Given the description of an element on the screen output the (x, y) to click on. 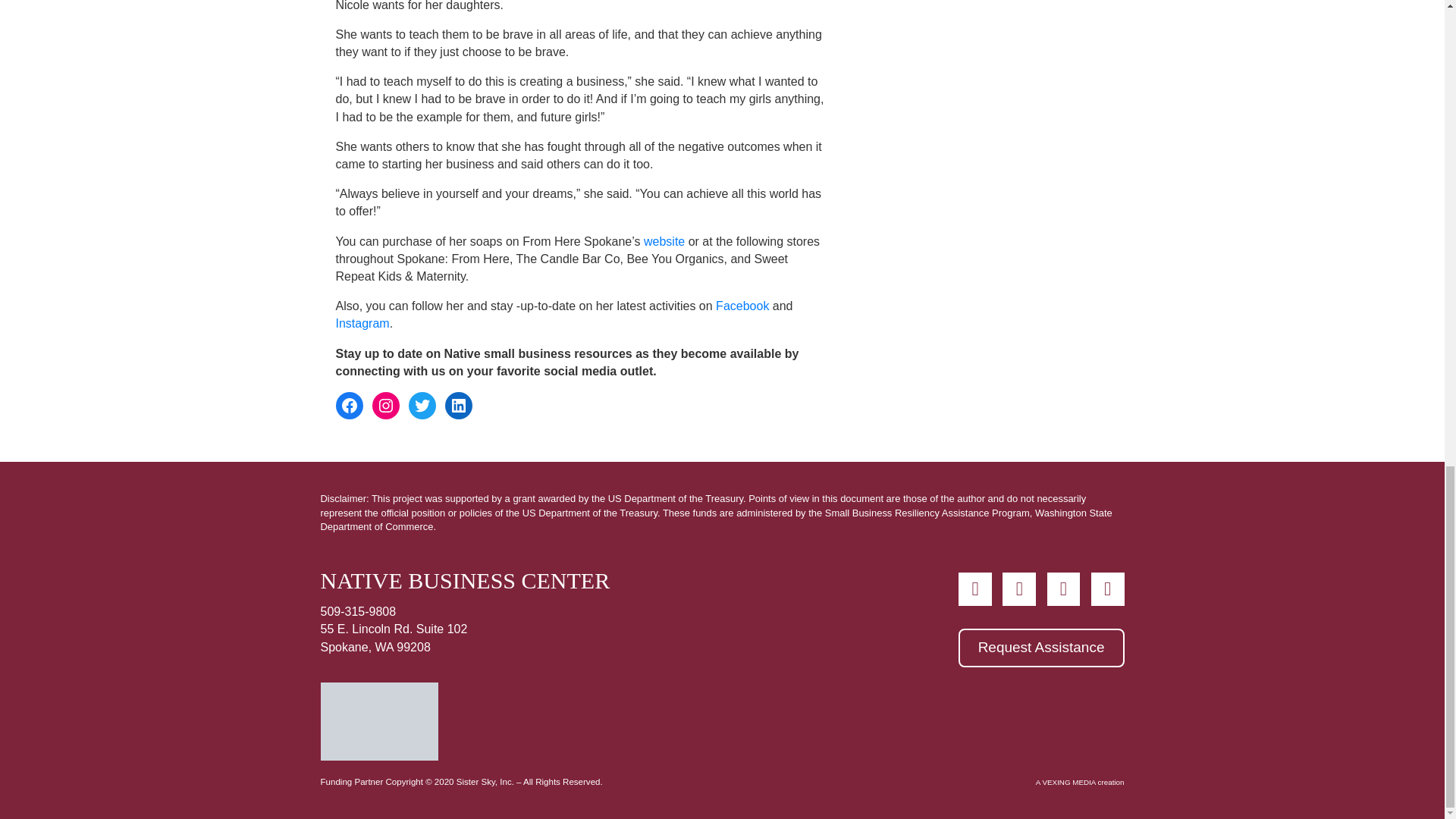
Facebook (348, 405)
A VEXING MEDIA creation (1079, 782)
Instagram (384, 405)
Twitter (421, 405)
sister-sky-logo (379, 721)
Request Assistance (1041, 647)
Instagram (361, 323)
website (663, 241)
Facebook (742, 305)
509-315-9808 (358, 611)
